Given the description of an element on the screen output the (x, y) to click on. 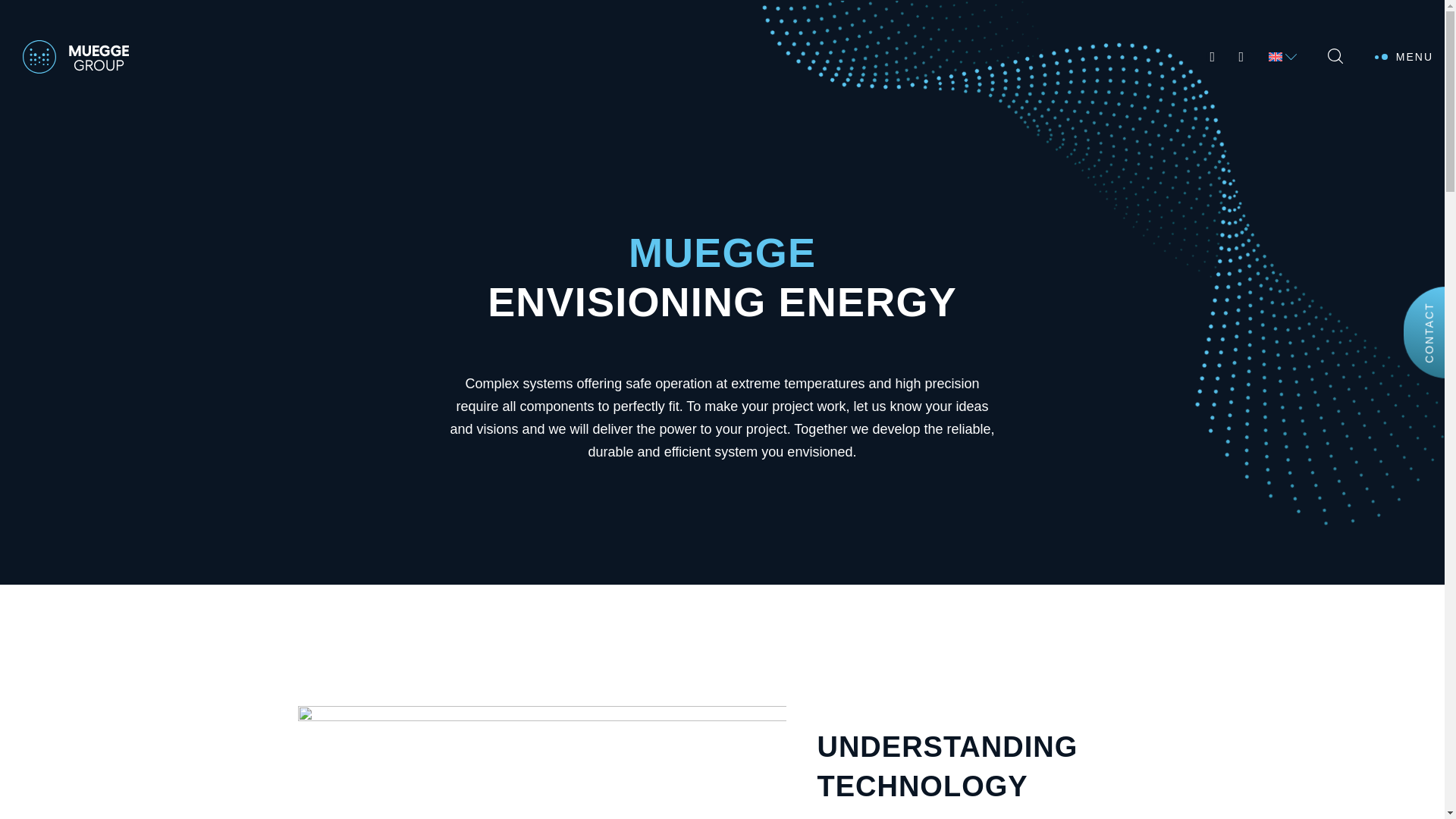
MENU (1414, 22)
